Given the description of an element on the screen output the (x, y) to click on. 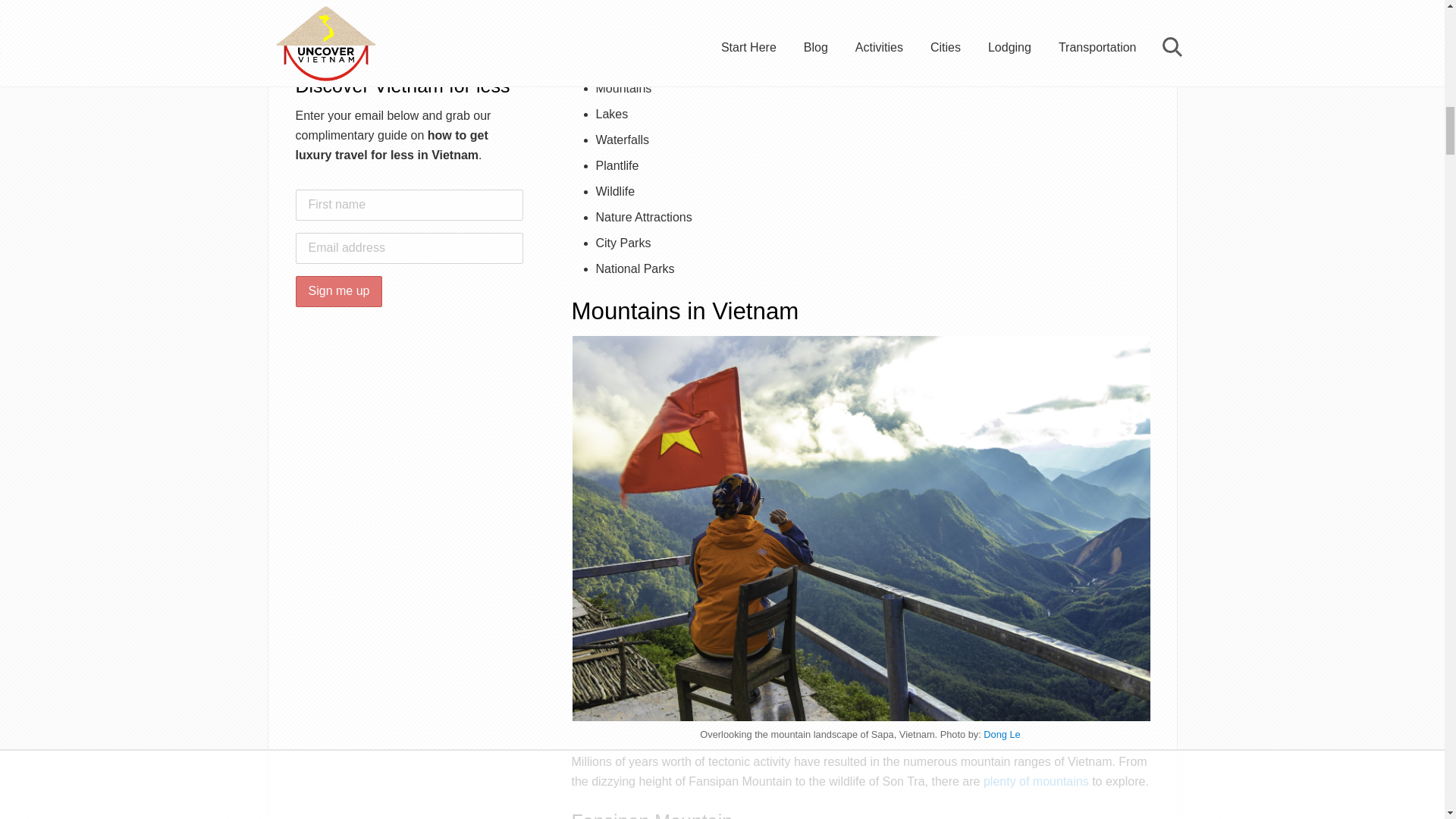
Sign me up (338, 291)
Mountains in Vietnam (1036, 780)
Dong Le (1002, 734)
plenty of mountains (1036, 780)
